Given the description of an element on the screen output the (x, y) to click on. 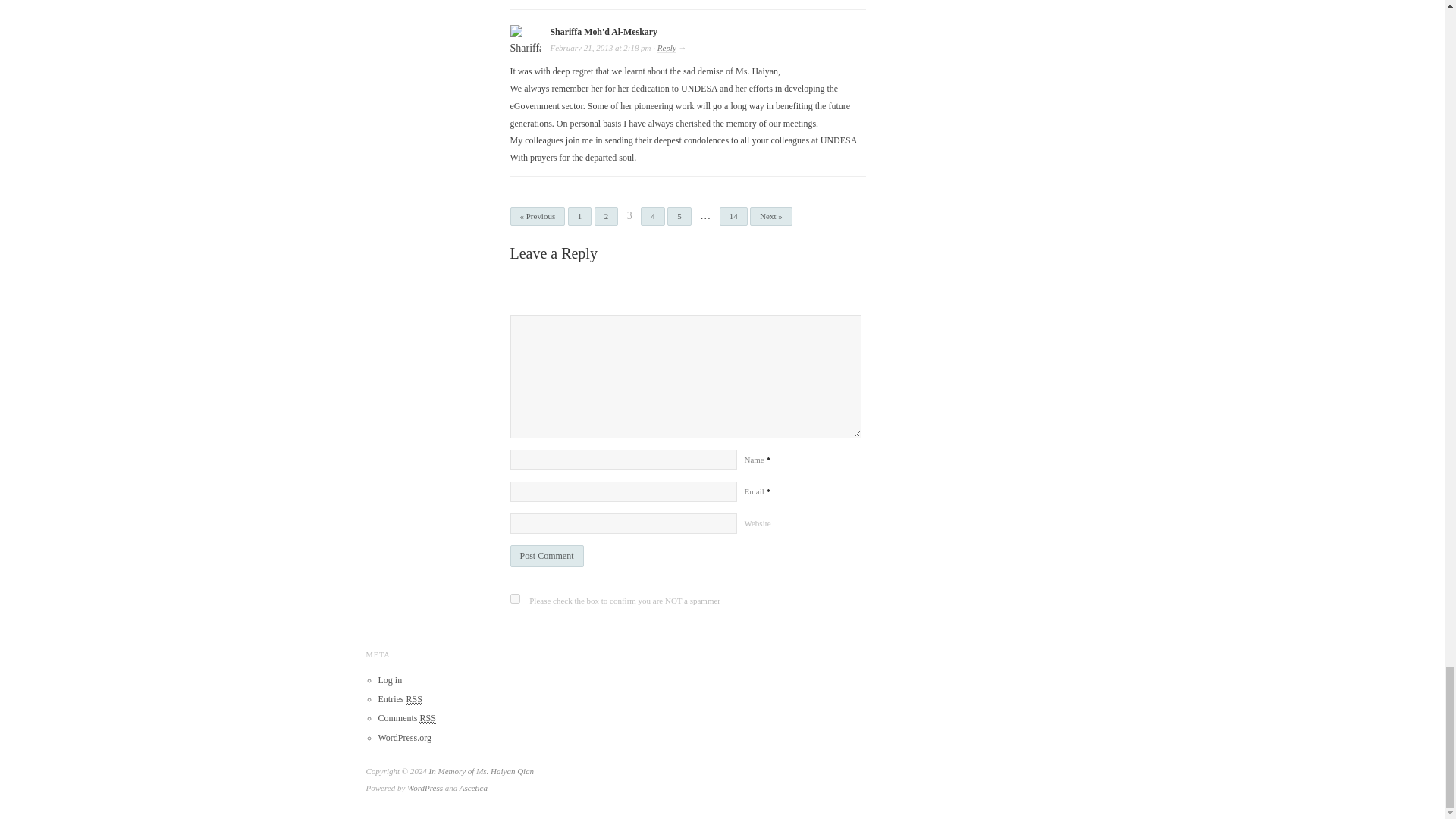
4 (652, 216)
Post Comment (546, 556)
2 (606, 216)
5 (678, 216)
on (514, 598)
1 (579, 216)
Reply (667, 48)
